Given the description of an element on the screen output the (x, y) to click on. 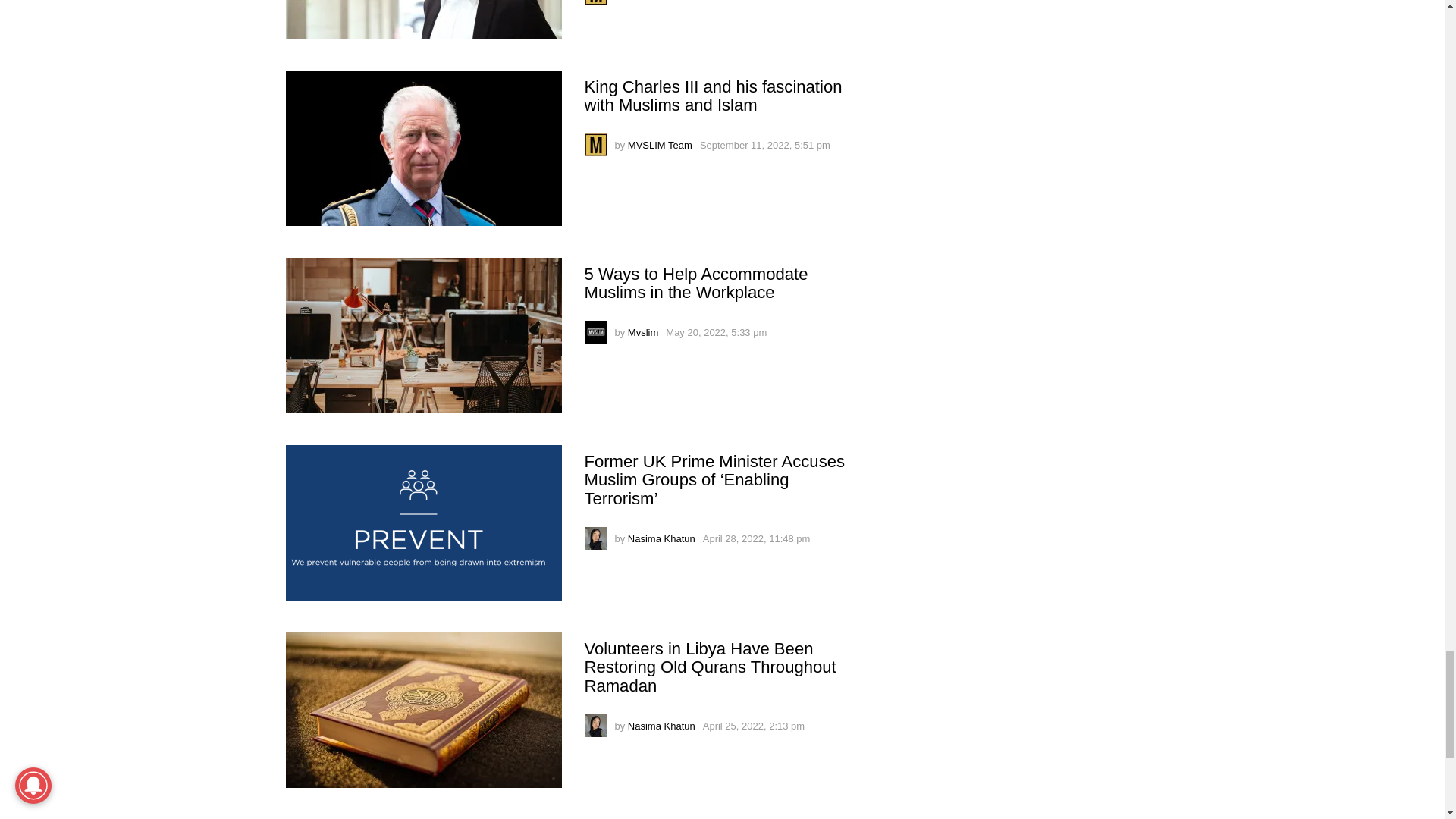
Posts by Nasima Khatun (661, 538)
April 25, 2022, 2:13 pm (754, 726)
Posts by MVSLIM Team (660, 144)
May 20, 2022, 5:33 pm (716, 332)
September 11, 2022, 5:51 pm (764, 144)
Posts by Nasima Khatun (661, 726)
Posts by Mvslim (642, 332)
April 28, 2022, 11:48 pm (756, 538)
